Given the description of an element on the screen output the (x, y) to click on. 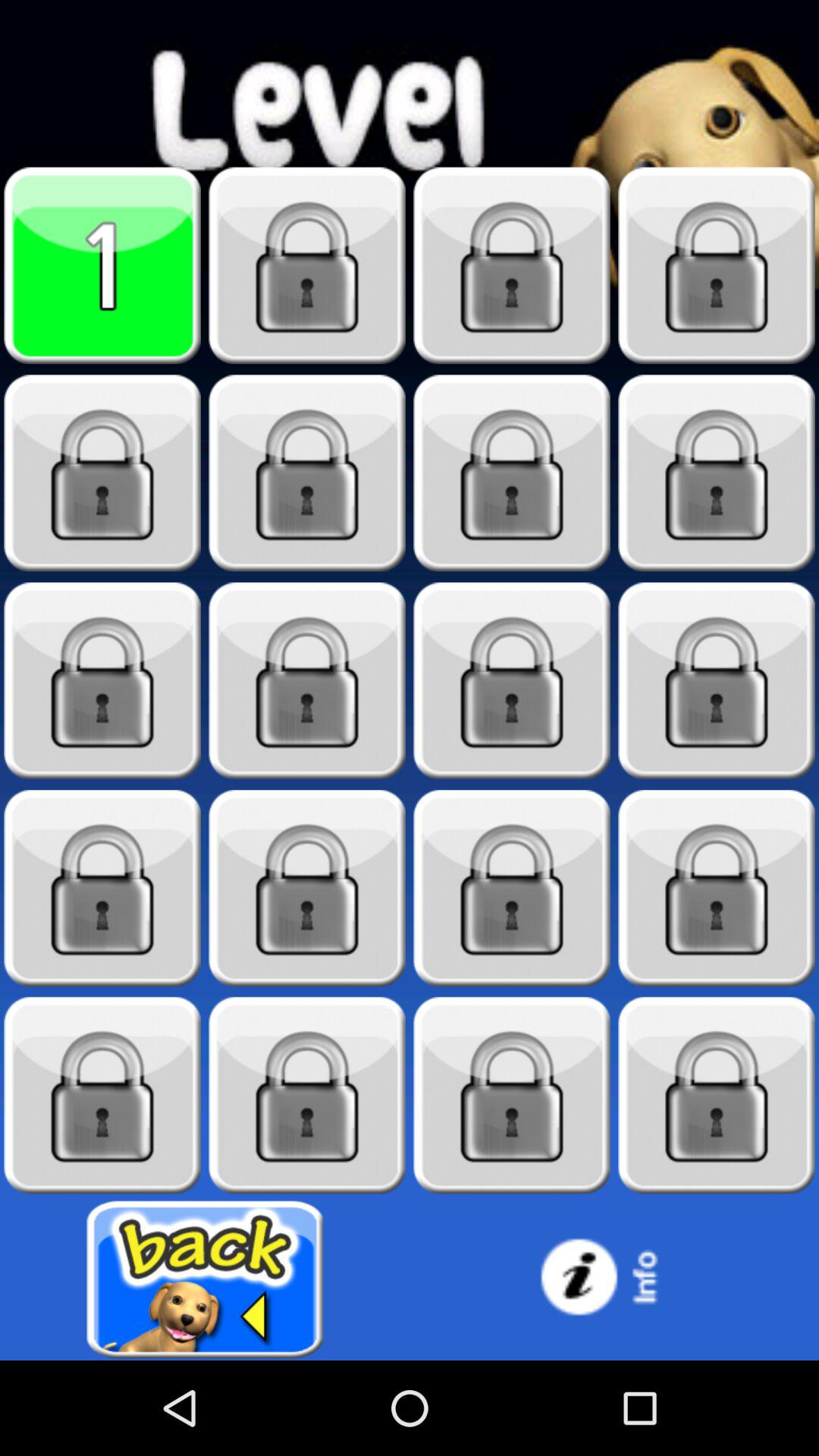
level selection (716, 680)
